Given the description of an element on the screen output the (x, y) to click on. 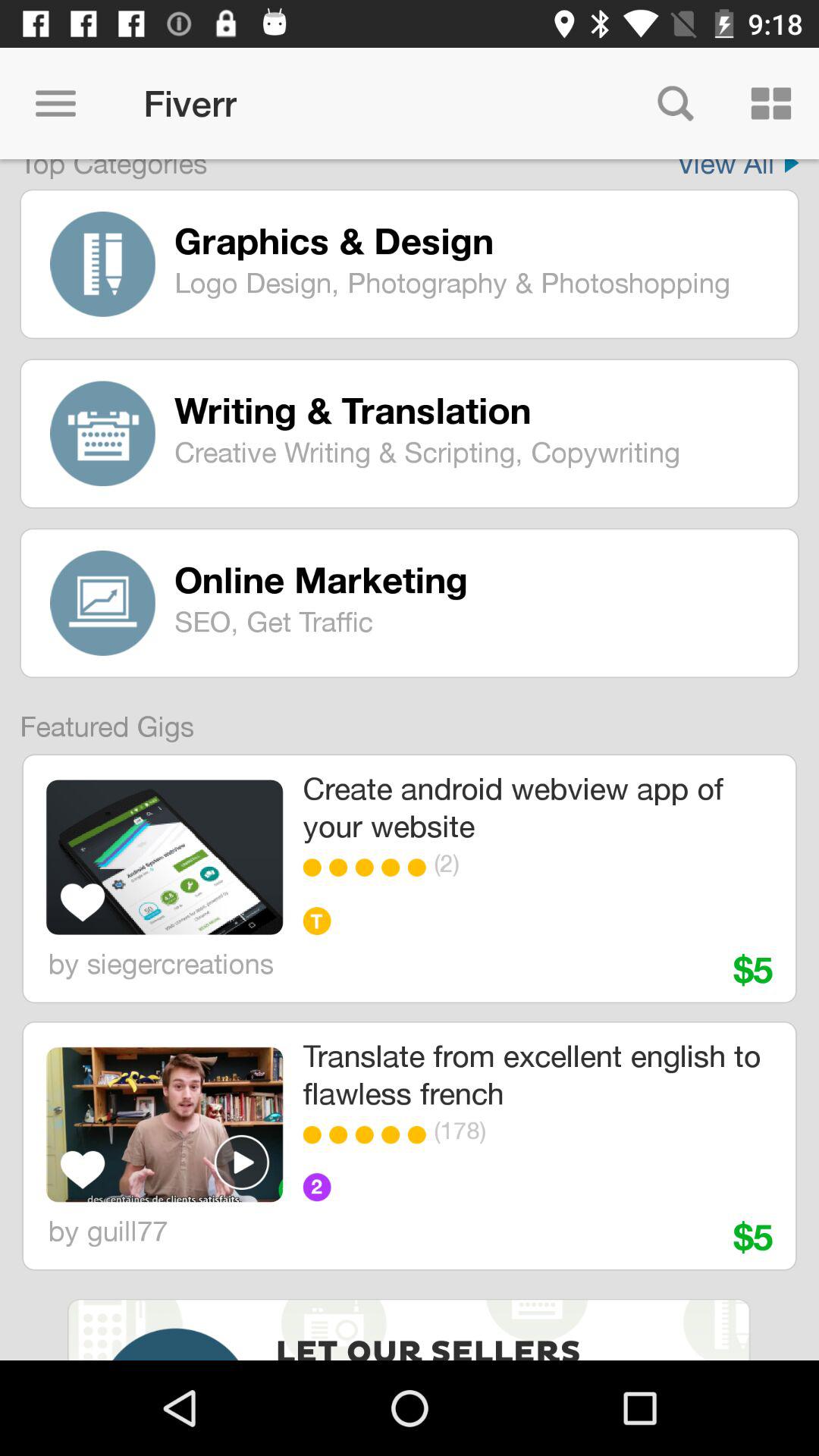
click the create android webview (537, 807)
